Given the description of an element on the screen output the (x, y) to click on. 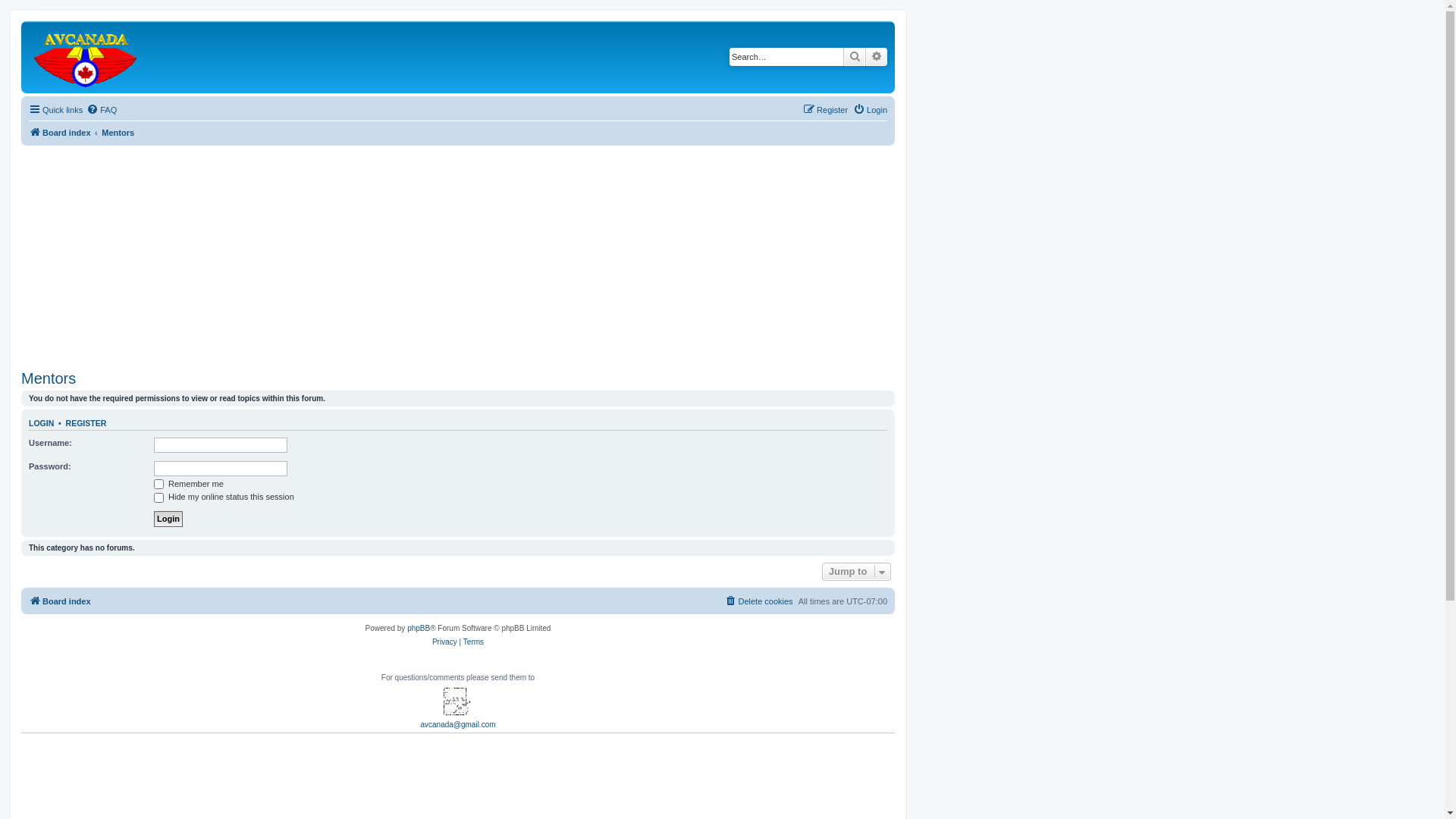
Advertisement Element type: hover (457, 251)
FAQ Element type: text (101, 109)
Search Element type: text (854, 56)
Terms Element type: text (473, 642)
Login Element type: text (167, 519)
Mentors Element type: text (48, 378)
Login Element type: text (870, 109)
Search for keywords Element type: hover (786, 56)
Board index Element type: text (59, 132)
Advanced search Element type: text (876, 56)
Delete cookies Element type: text (758, 601)
Privacy Element type: text (444, 642)
Quick links Element type: text (55, 109)
REGISTER Element type: text (85, 422)
avcanada@gmail.com Element type: text (457, 724)
Board index Element type: text (59, 601)
phpBB Element type: text (418, 628)
Mentors Element type: text (117, 132)
LOGIN Element type: text (40, 422)
Board index Element type: hover (86, 57)
Register Element type: text (825, 109)
